Given the description of an element on the screen output the (x, y) to click on. 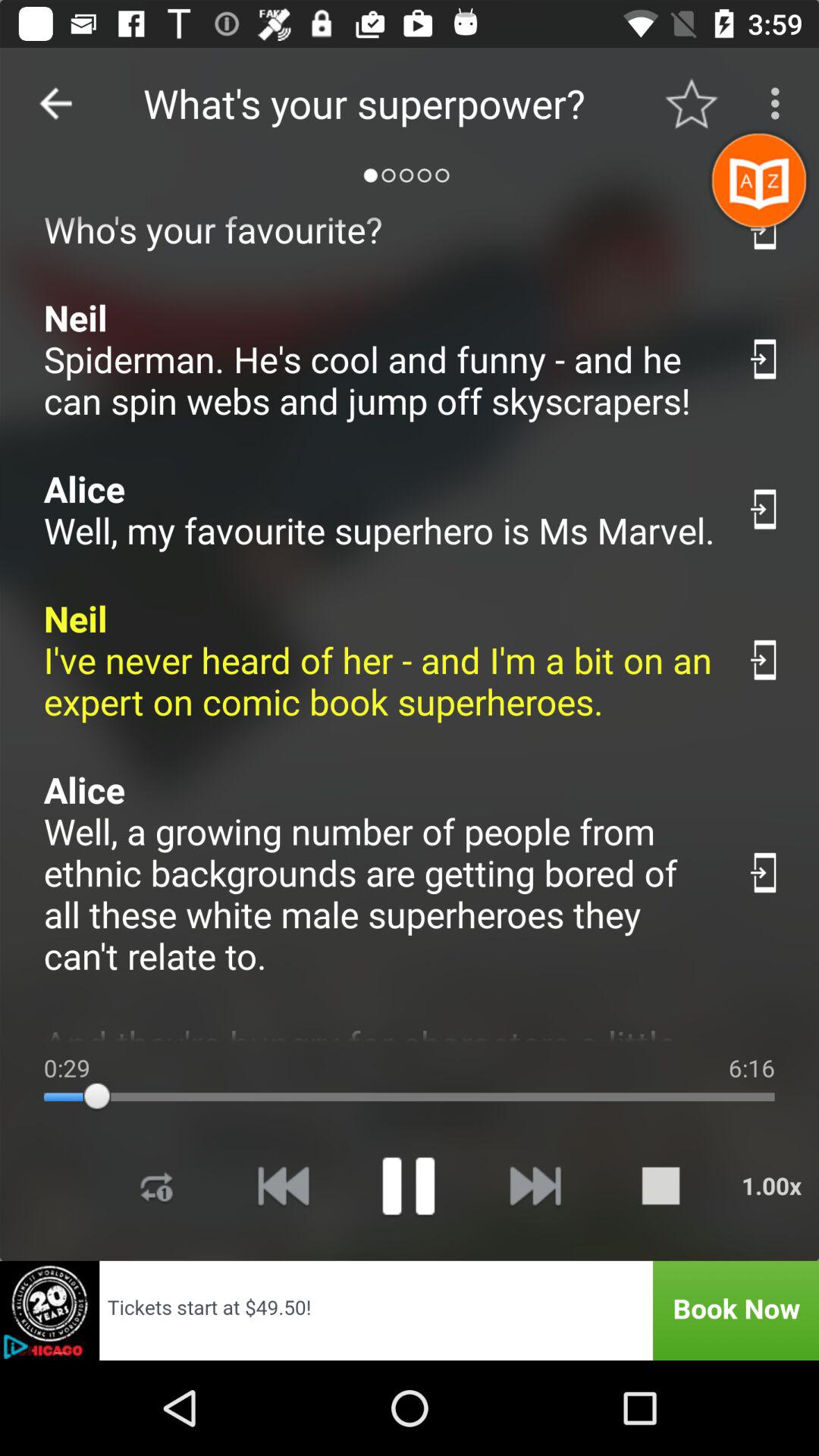
start audio over (282, 1185)
